Given the description of an element on the screen output the (x, y) to click on. 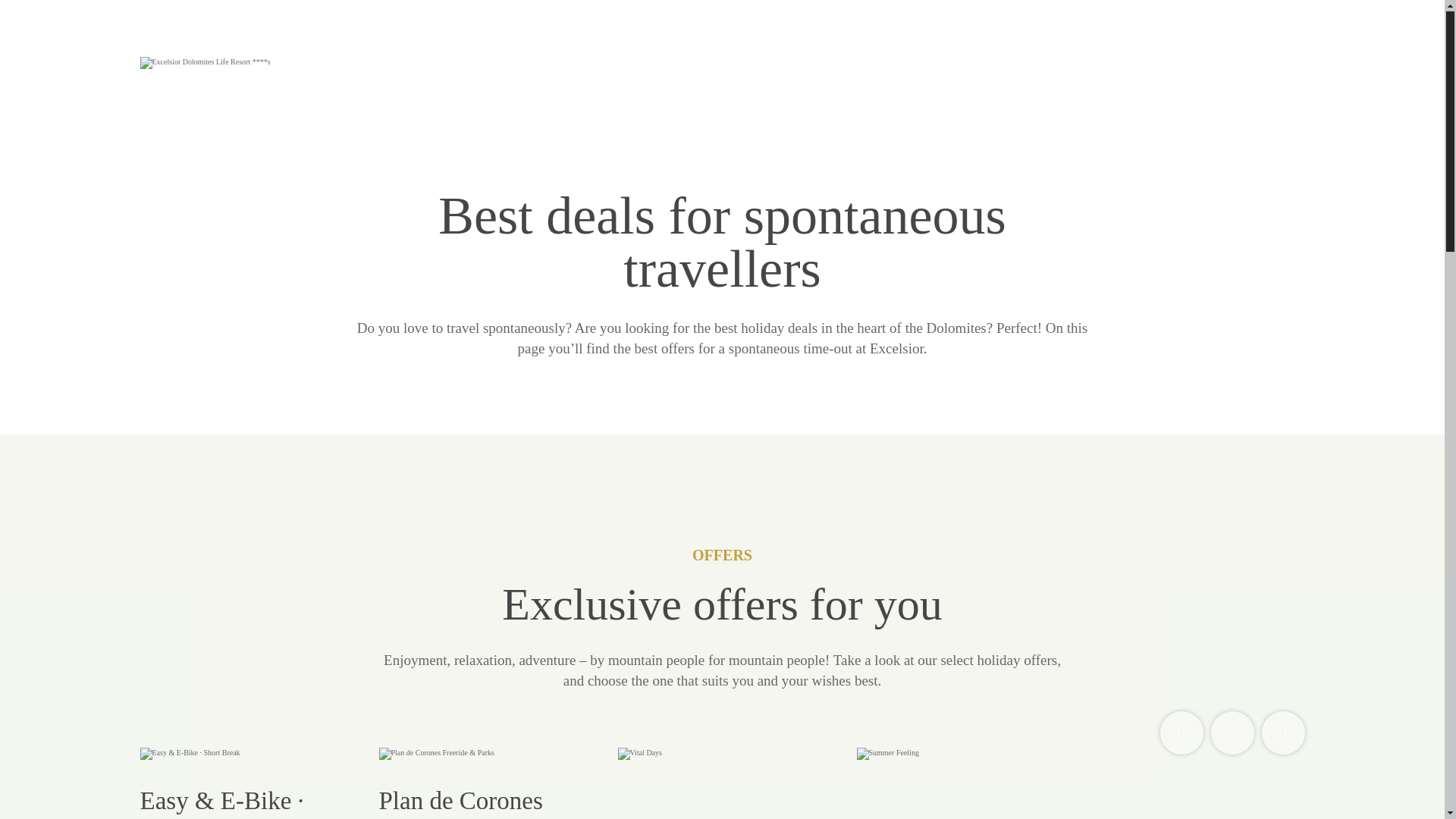
Voucher (1283, 732)
Home (249, 62)
